Given the description of an element on the screen output the (x, y) to click on. 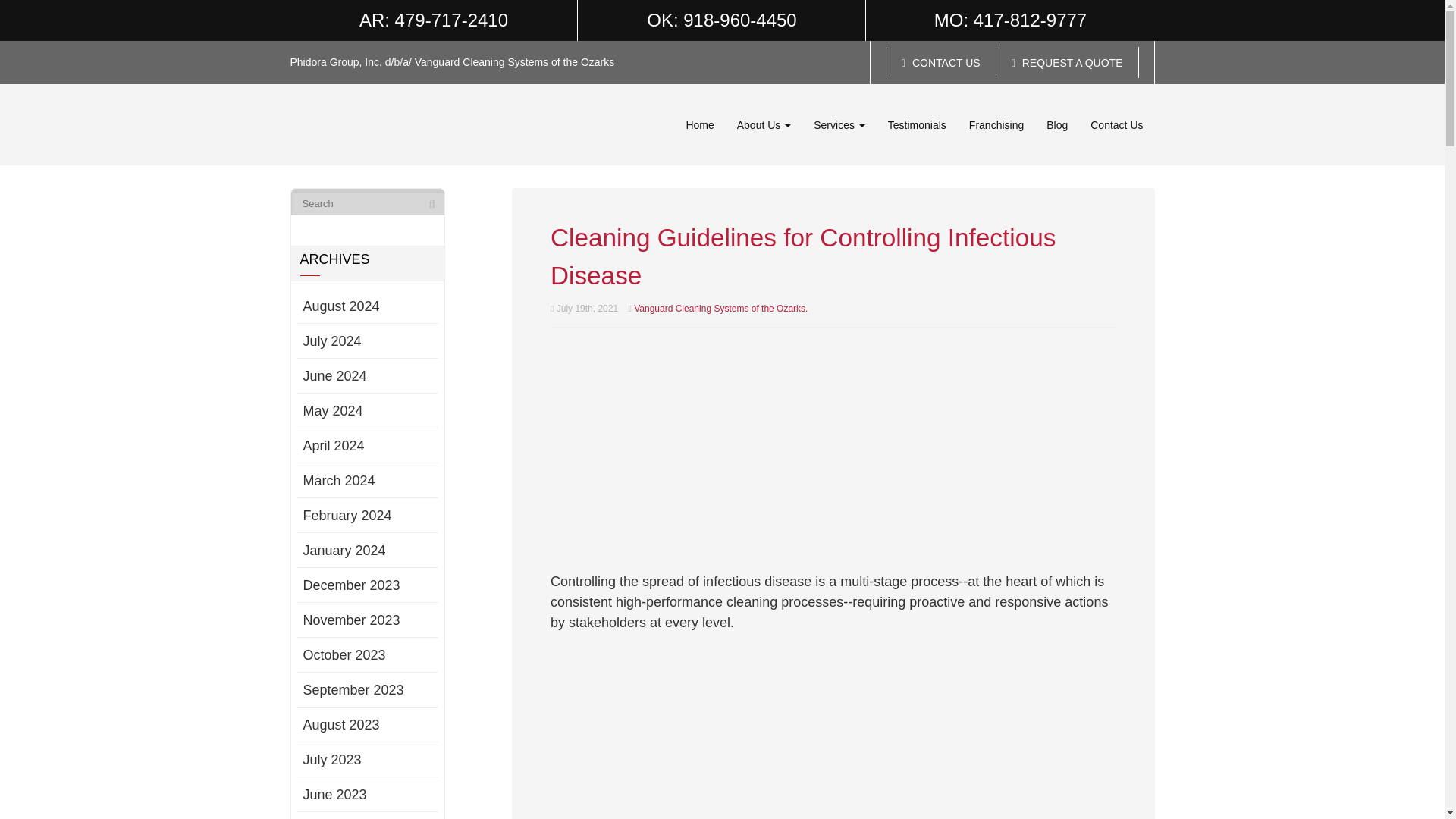
About Us (763, 124)
479-717-2410 (451, 19)
REQUEST A QUOTE (1066, 61)
Posts by Vanguard Cleaning Systems of the Ozarks. (720, 308)
Testimonials (917, 124)
Franchising (996, 124)
918-960-4450 (739, 19)
Blog (1056, 124)
Home (699, 124)
CONTACT US (940, 61)
